Given the description of an element on the screen output the (x, y) to click on. 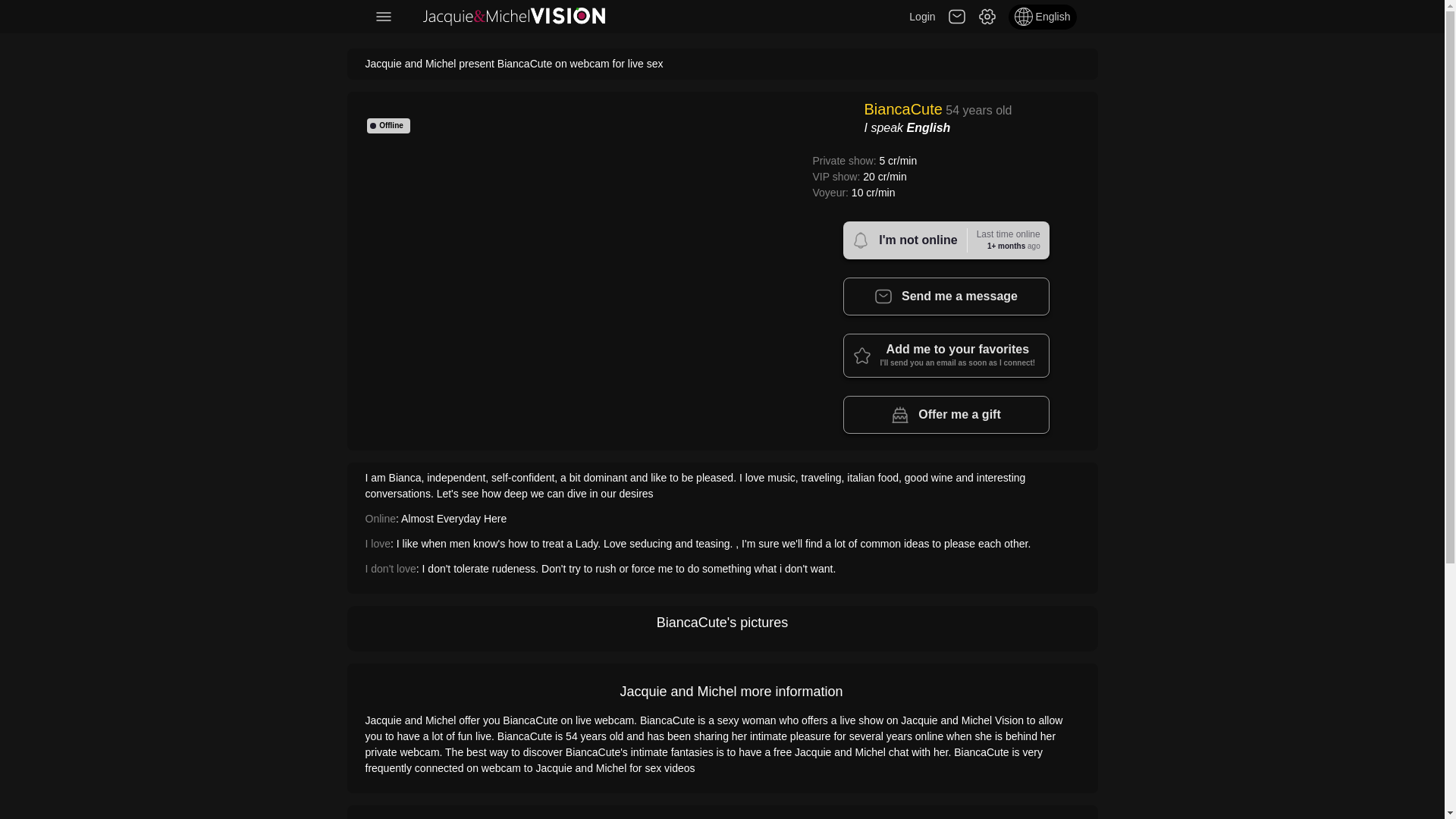
See all girls (514, 16)
Send me a message (946, 296)
Offer me a gift (946, 414)
